Given the description of an element on the screen output the (x, y) to click on. 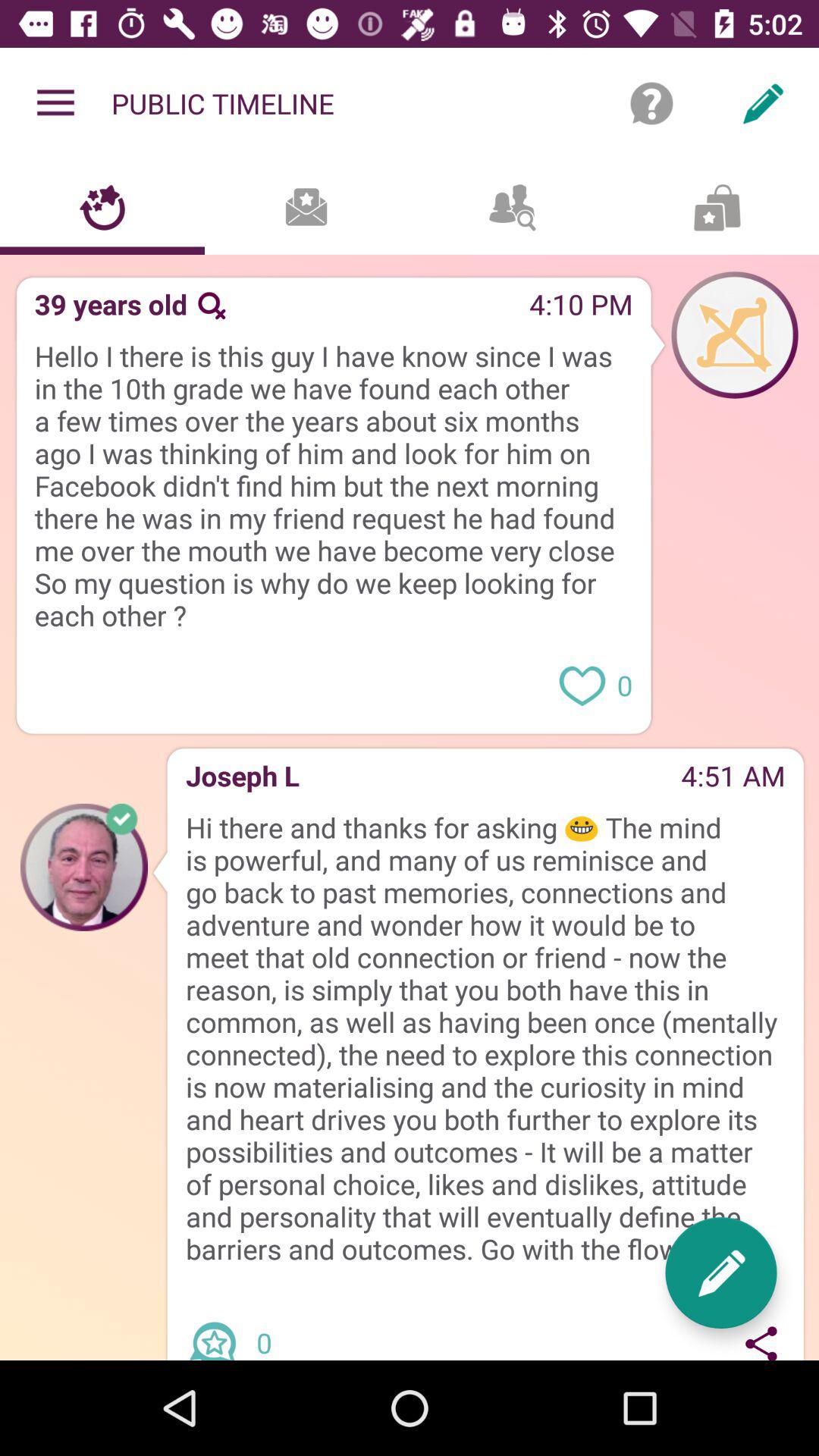
share article (218, 1327)
